Given the description of an element on the screen output the (x, y) to click on. 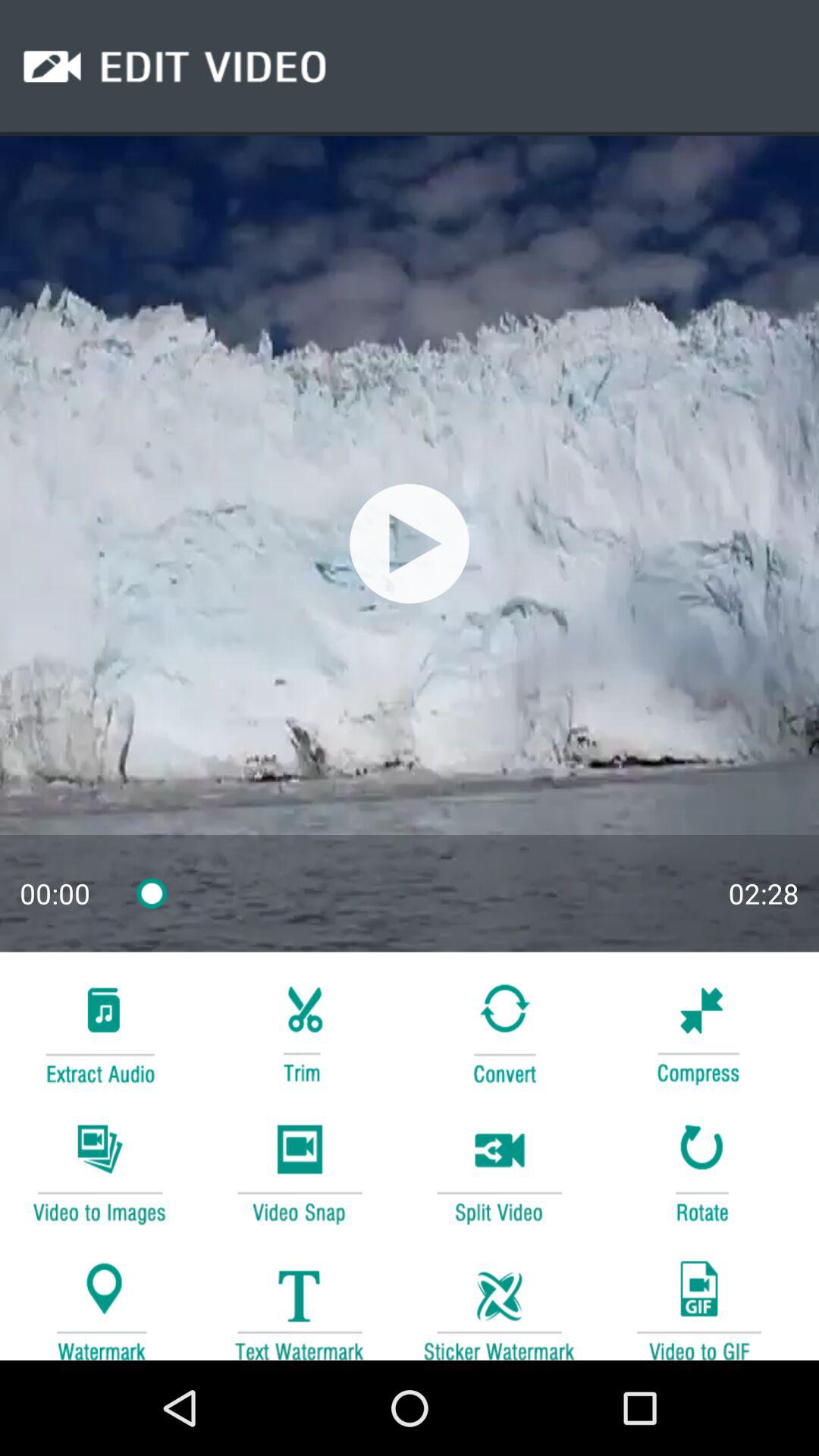
click for video snap (299, 1171)
